Given the description of an element on the screen output the (x, y) to click on. 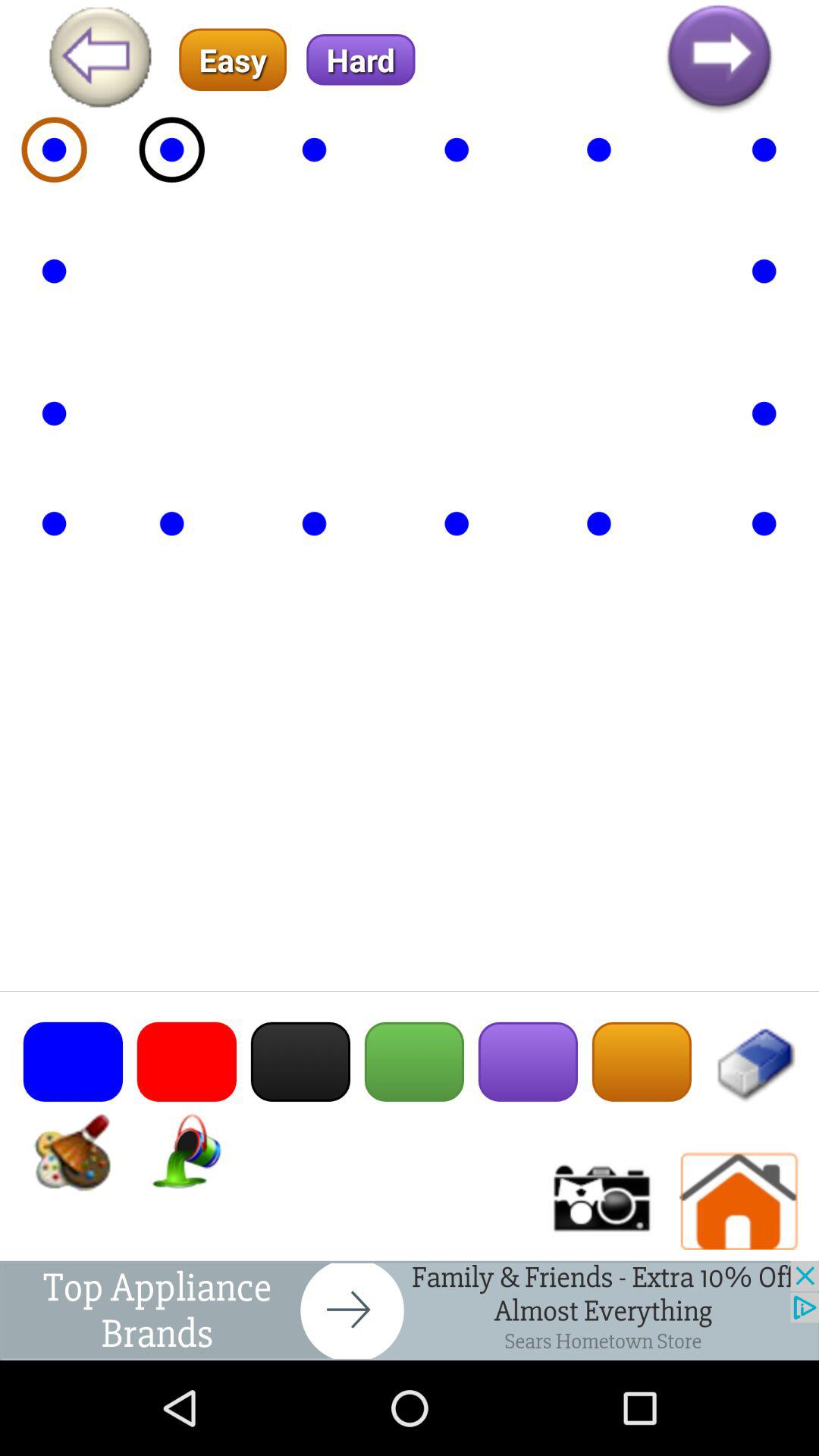
back (409, 1310)
